Given the description of an element on the screen output the (x, y) to click on. 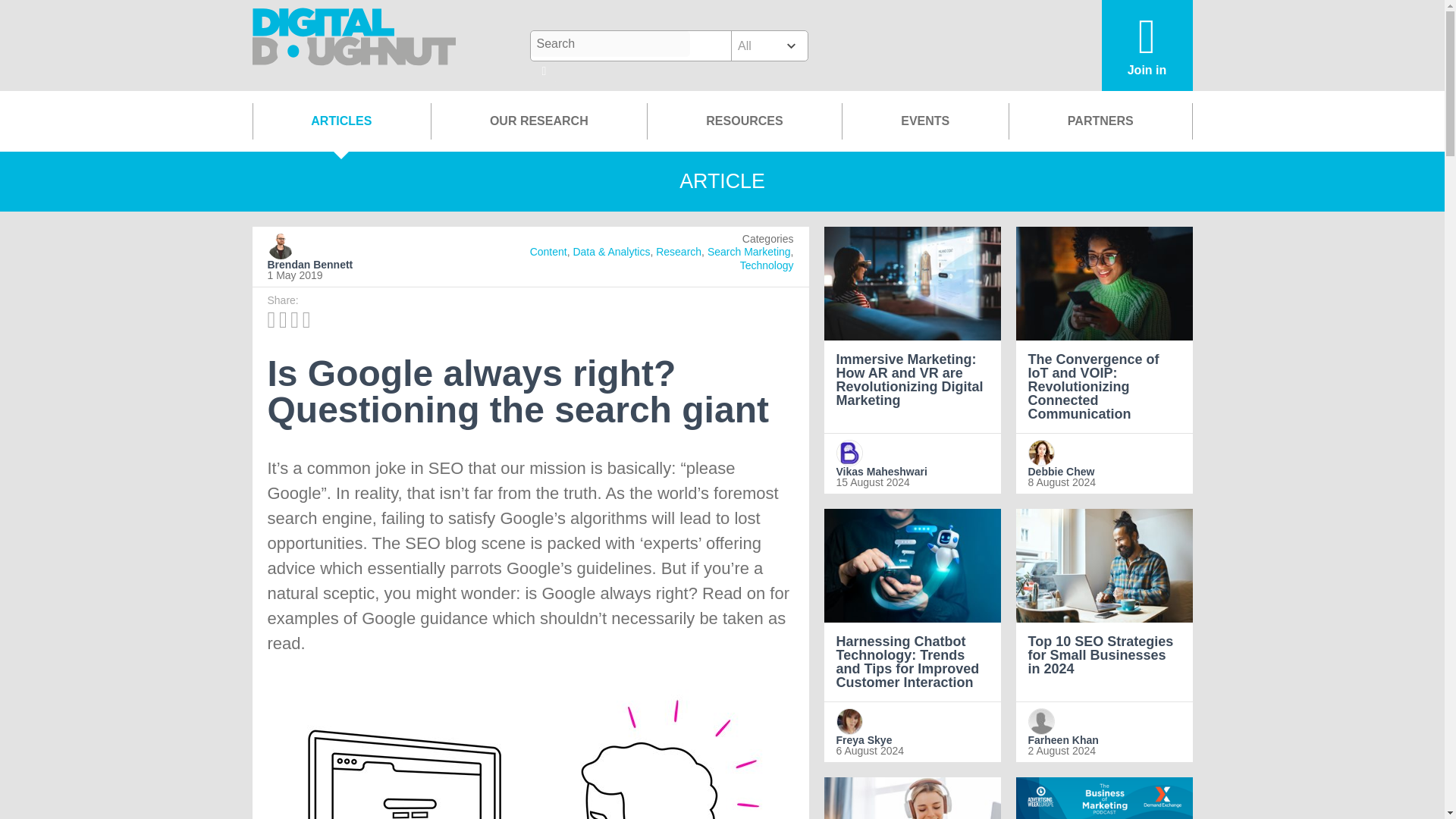
RESOURCES (743, 120)
Click to view related articles (766, 265)
Content (548, 251)
Go (544, 71)
Join in (1146, 45)
Go (544, 71)
ARTICLES (340, 120)
Digital Doughnut (354, 45)
Click to view related articles (678, 251)
Brendan Bennett (352, 264)
